Given the description of an element on the screen output the (x, y) to click on. 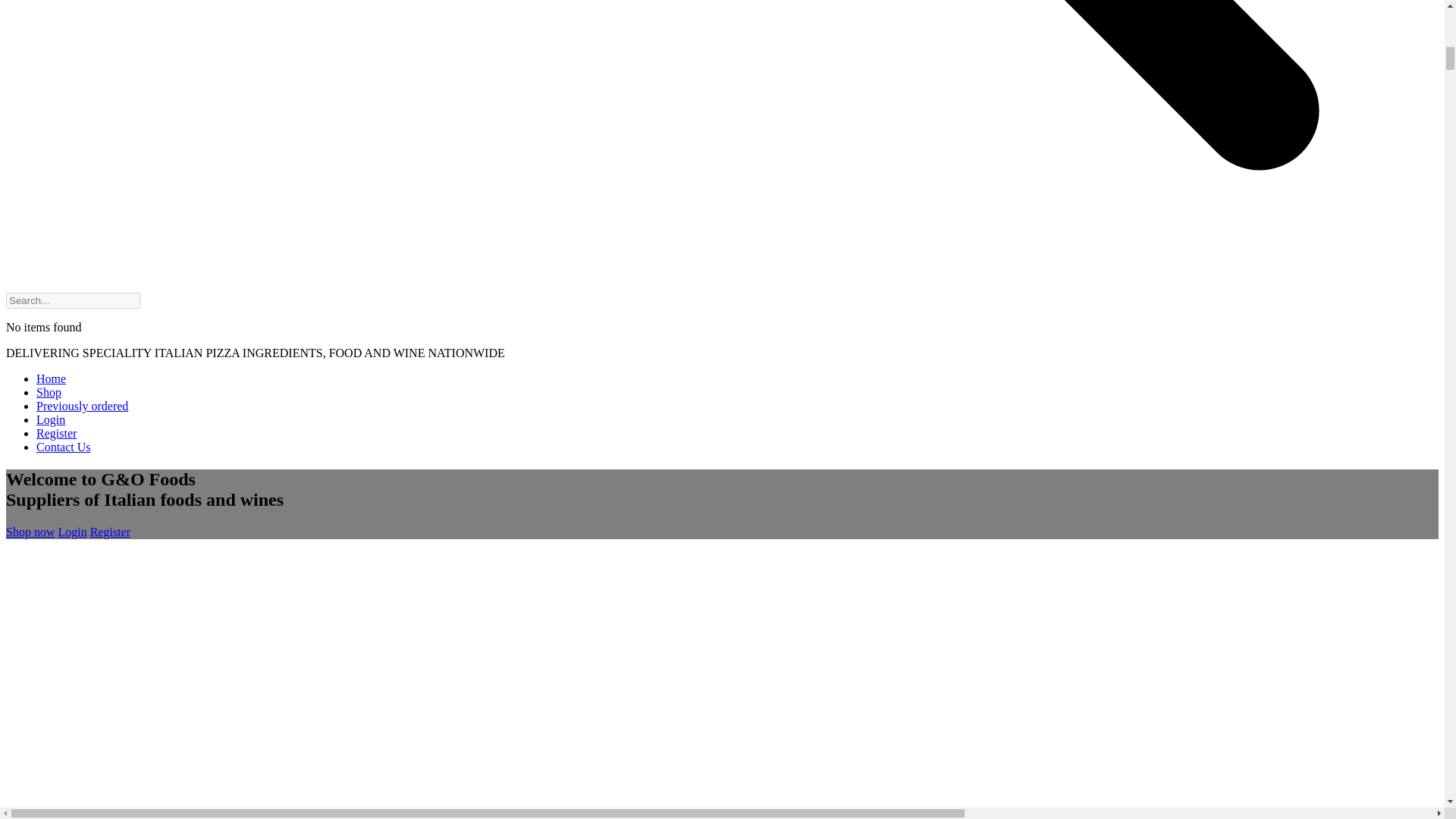
Shop (48, 391)
Home (50, 378)
